Given the description of an element on the screen output the (x, y) to click on. 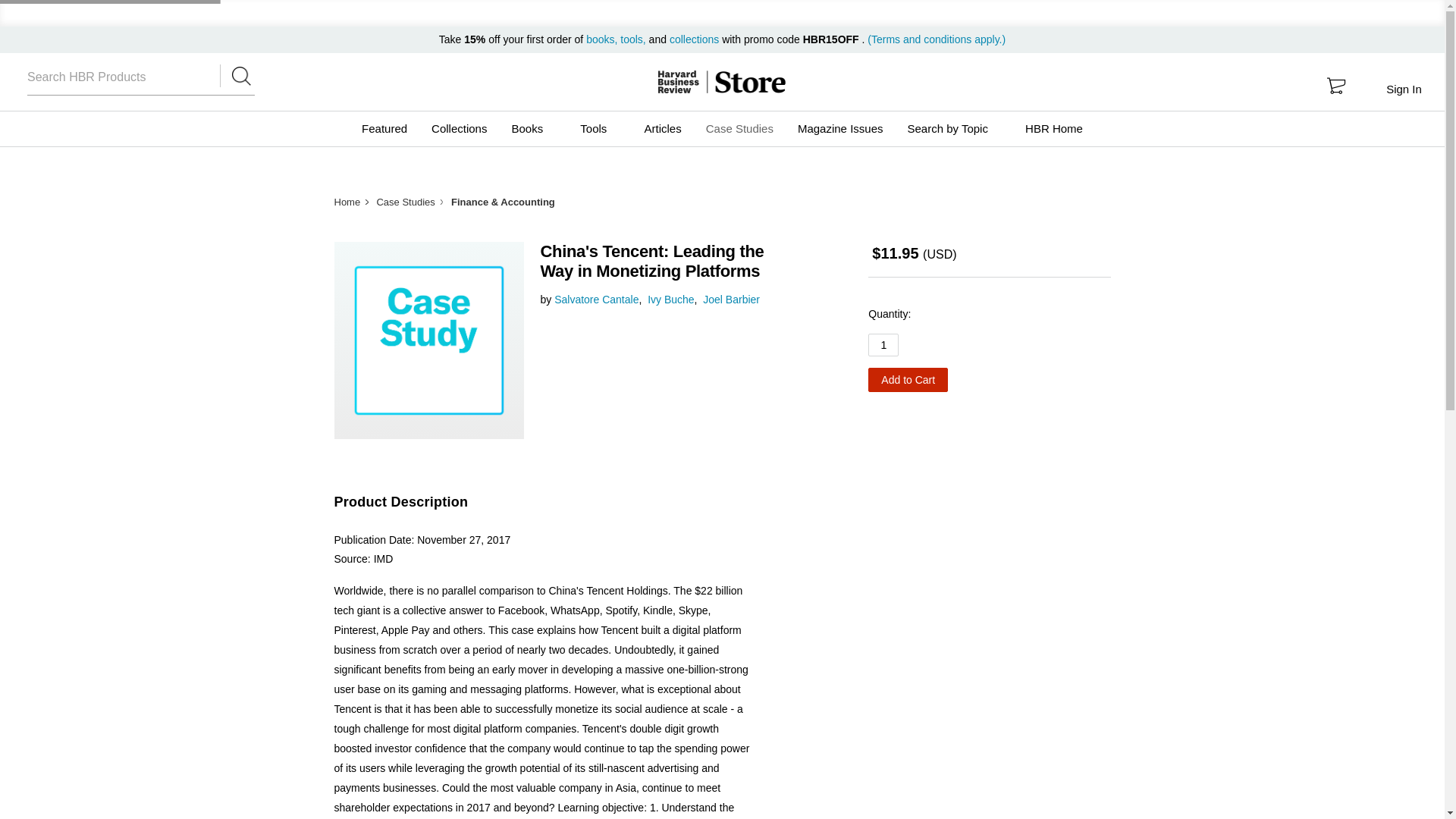
Tools (599, 128)
HBR.ORG - Prod (678, 81)
1 (882, 344)
tools, (632, 39)
Collections (459, 128)
books, (603, 39)
collections (694, 39)
Books (533, 128)
Sign In (1403, 88)
Featured (384, 128)
